Given the description of an element on the screen output the (x, y) to click on. 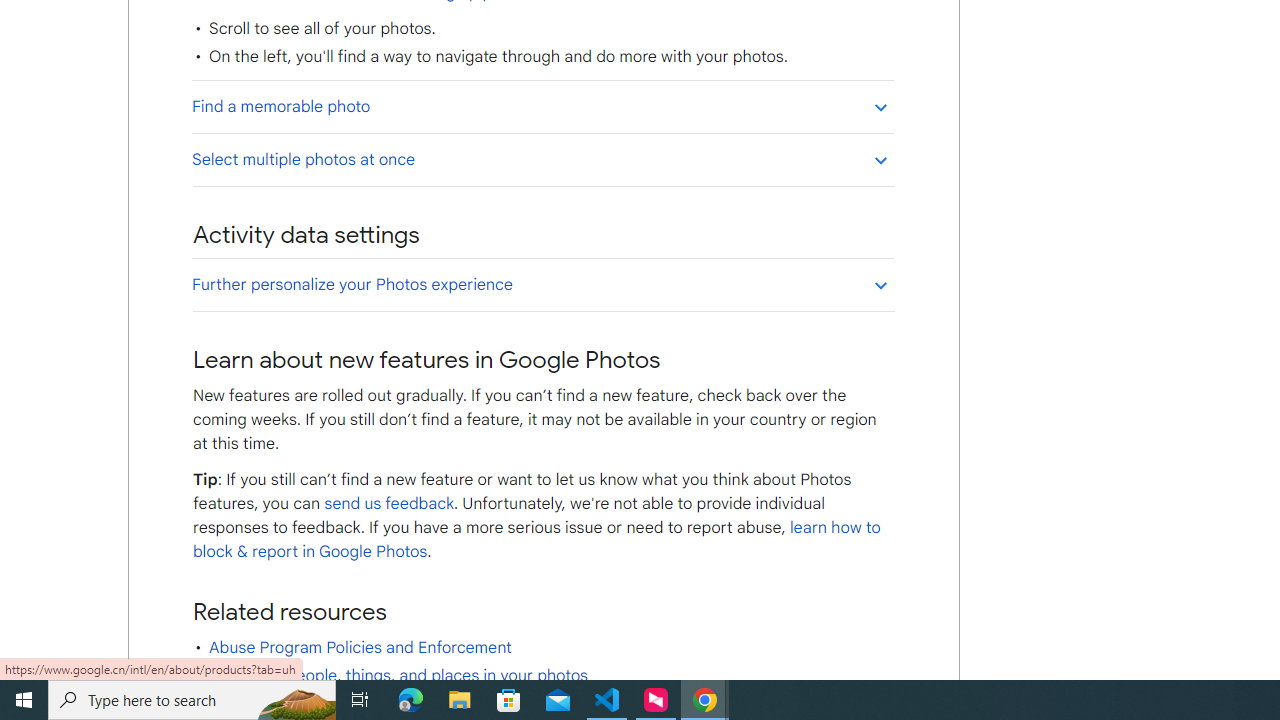
Abuse Program Policies and Enforcement (360, 647)
Find a memorable photo (542, 106)
send us feedback (388, 503)
Further personalize your Photos experience (542, 284)
Search by people, things, and places in your photos (397, 676)
Select multiple photos at once (542, 159)
learn how to block & report in Google Photos (536, 539)
